Given the description of an element on the screen output the (x, y) to click on. 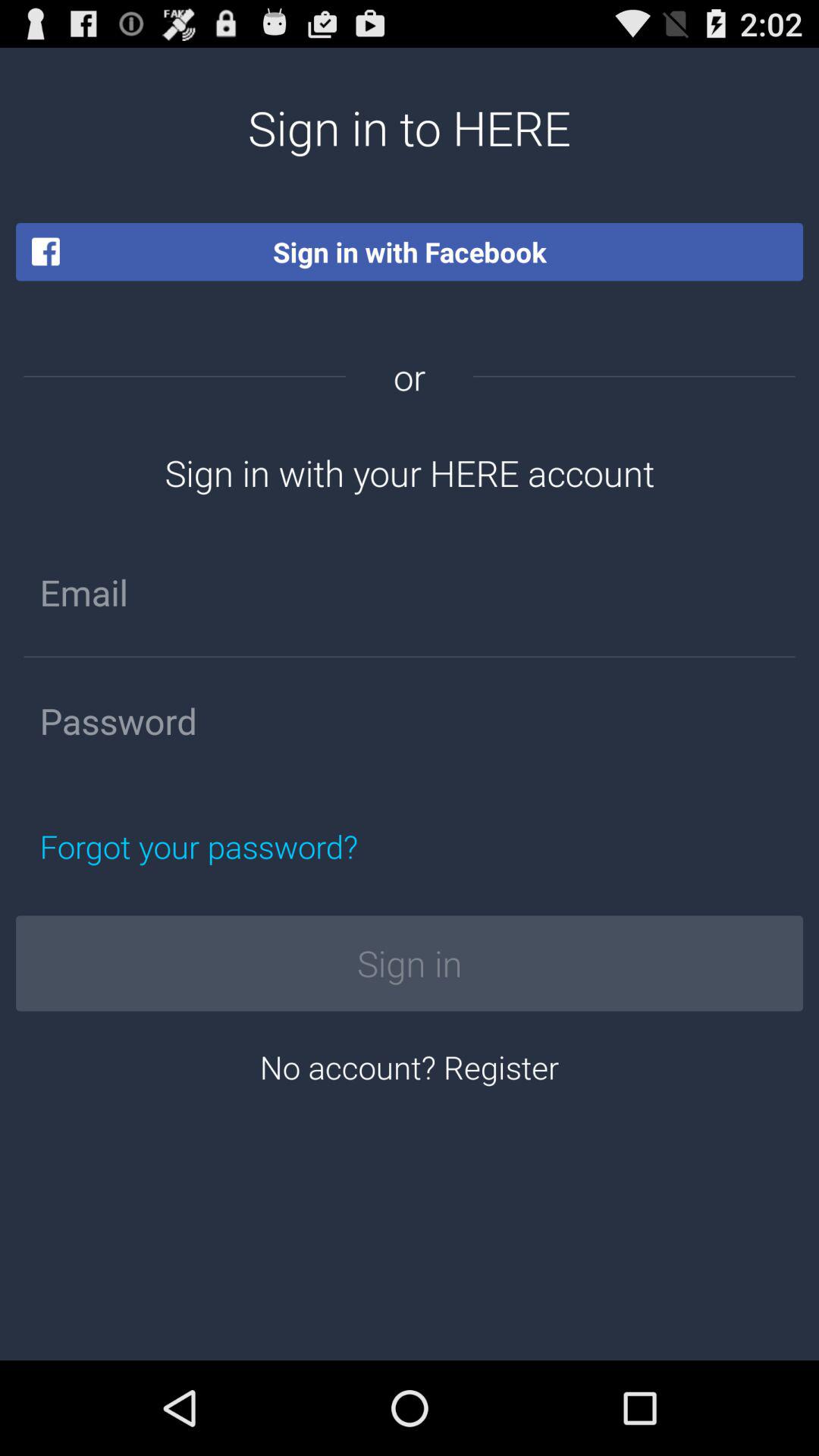
swipe until no account? register (409, 1066)
